Given the description of an element on the screen output the (x, y) to click on. 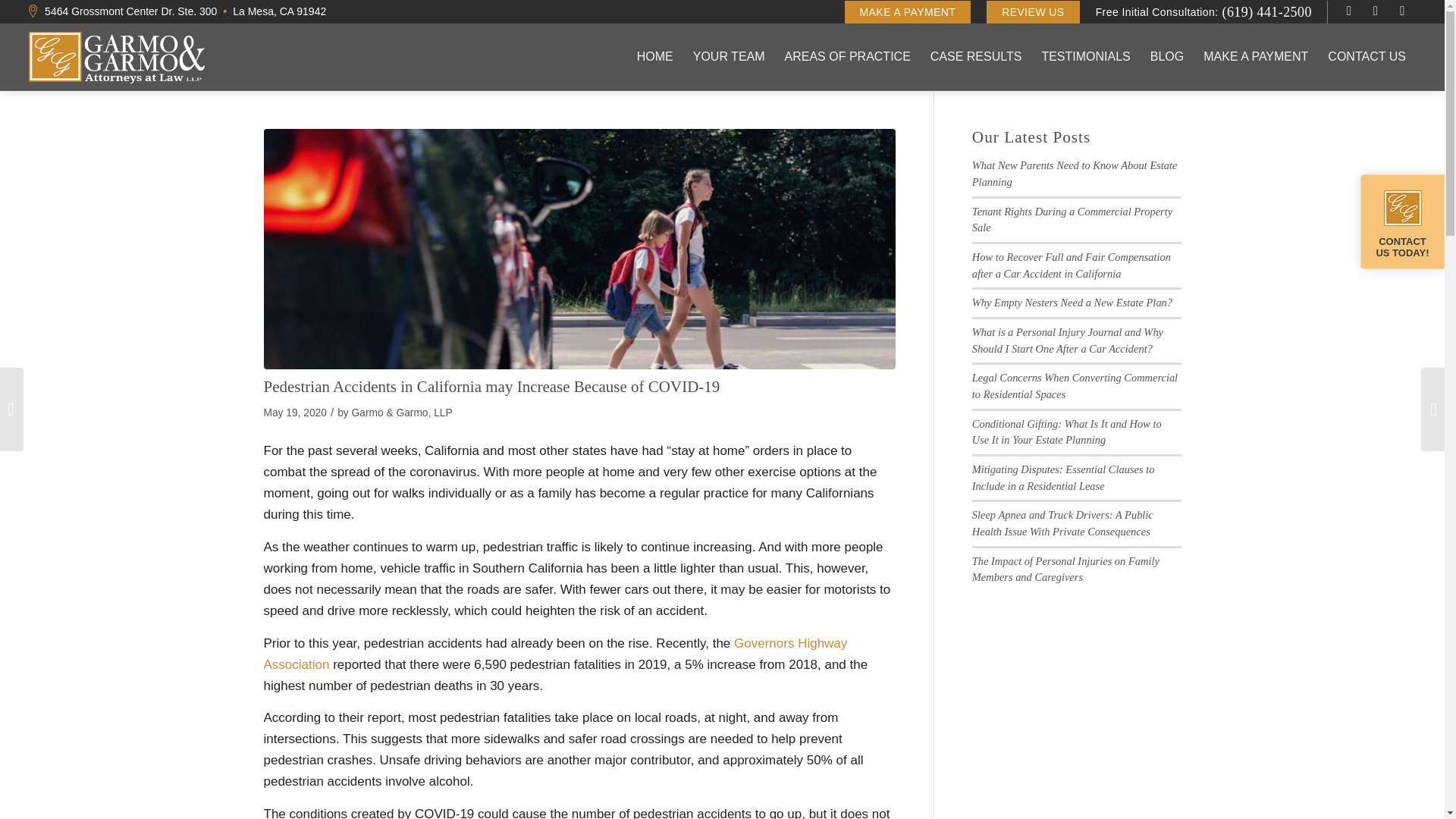
LinkedIn (1402, 11)
Facebook (1348, 11)
YOUR TEAM (728, 56)
MAKE A PAYMENT (907, 11)
AREAS OF PRACTICE (847, 56)
REVIEW US (1032, 11)
X (1375, 11)
Free Initial Consultation: (1157, 11)
